Given the description of an element on the screen output the (x, y) to click on. 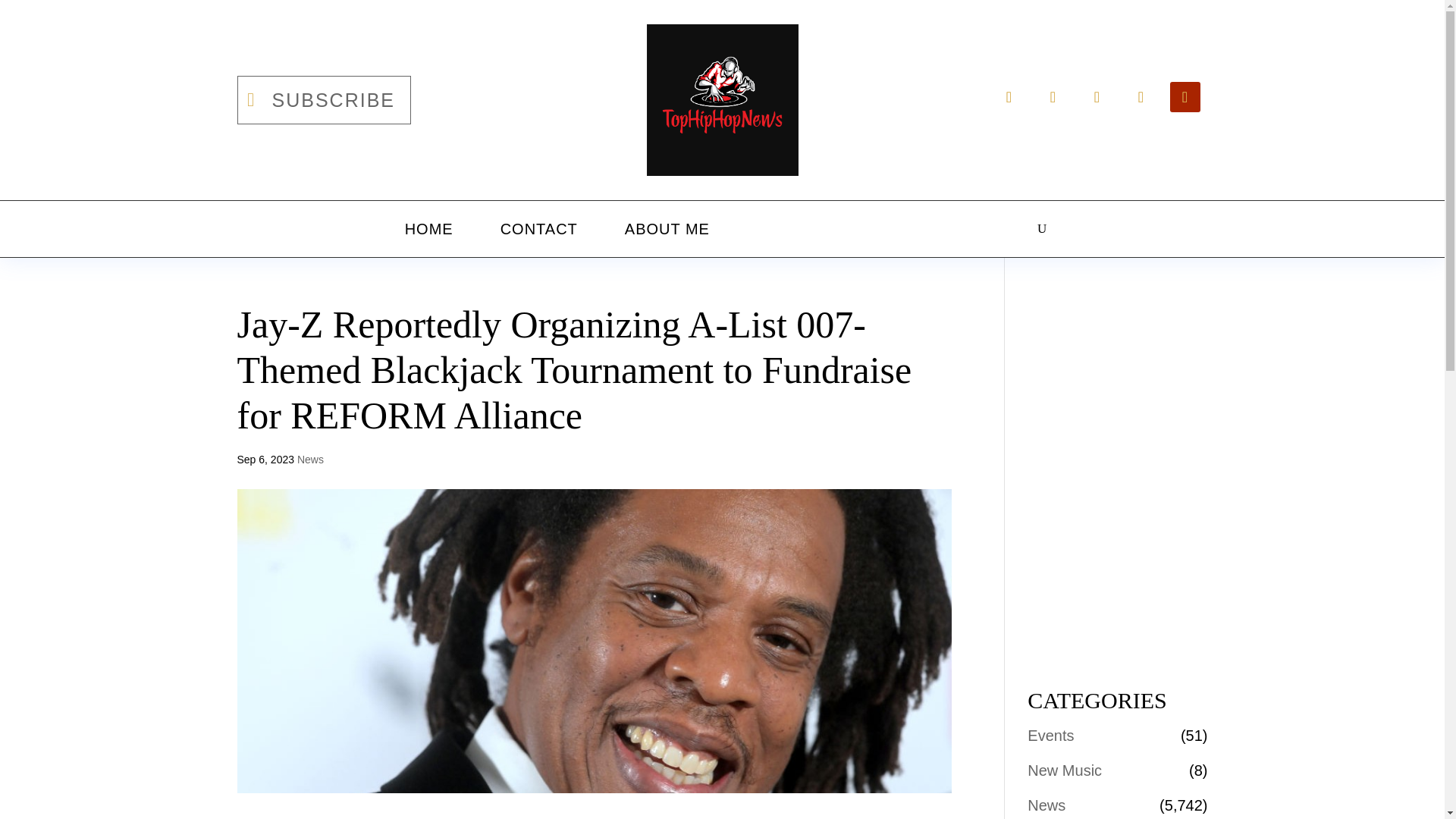
Follow on Instagram (1096, 96)
News (310, 459)
ABOUT ME (667, 228)
News (1046, 805)
SUBSCRIBE (322, 100)
Events (1050, 735)
New Music (1064, 769)
CONTACT (538, 228)
Follow on X (1051, 96)
Follow on Pinterest (1140, 96)
top-hip-hop-news (721, 100)
HOME (429, 228)
Follow on Youtube (1184, 96)
Follow on Facebook (1007, 96)
